Given the description of an element on the screen output the (x, y) to click on. 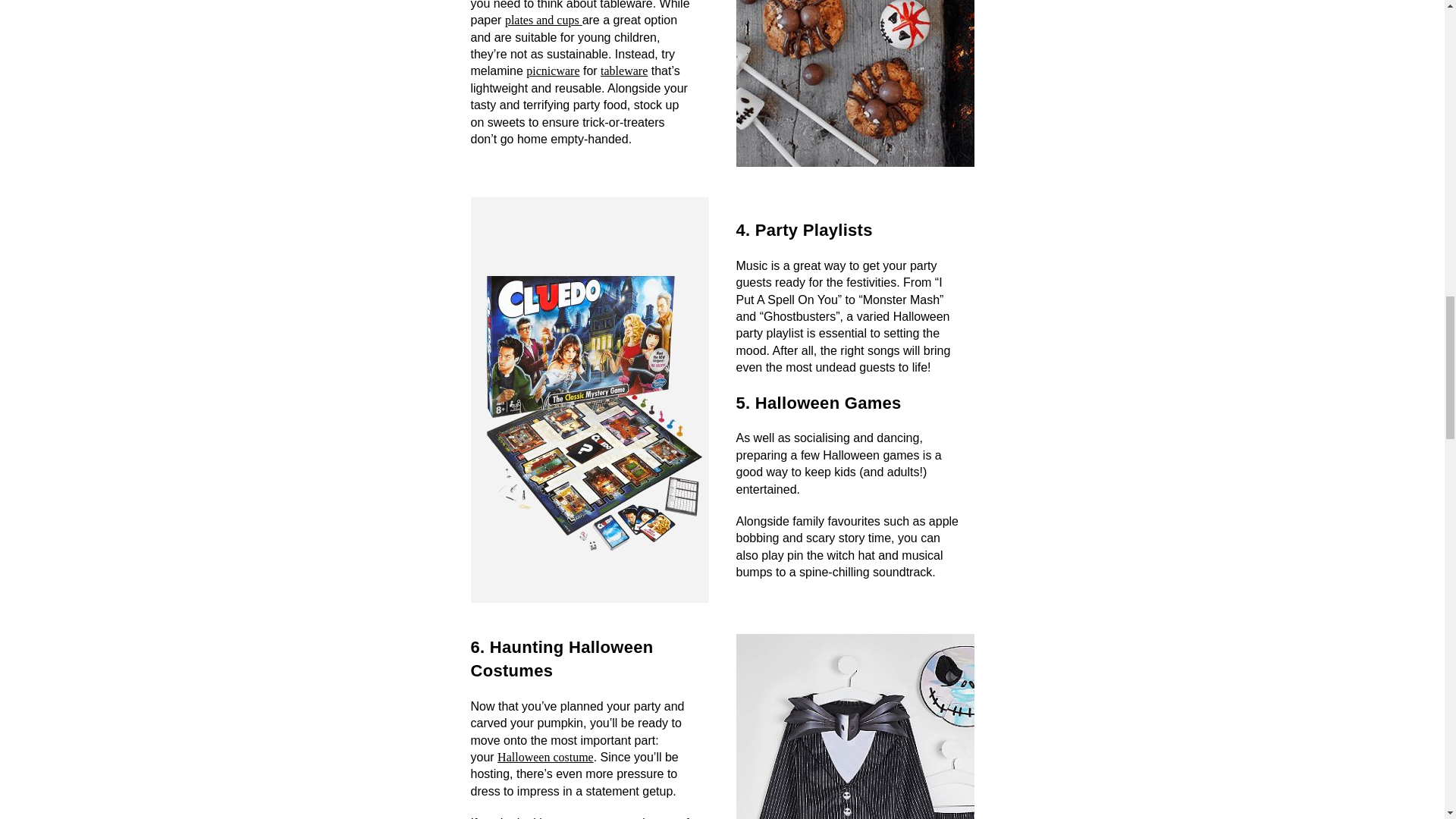
picnicware (552, 70)
plates and cups  (543, 19)
tableware (623, 70)
Halloween costume (545, 757)
